Given the description of an element on the screen output the (x, y) to click on. 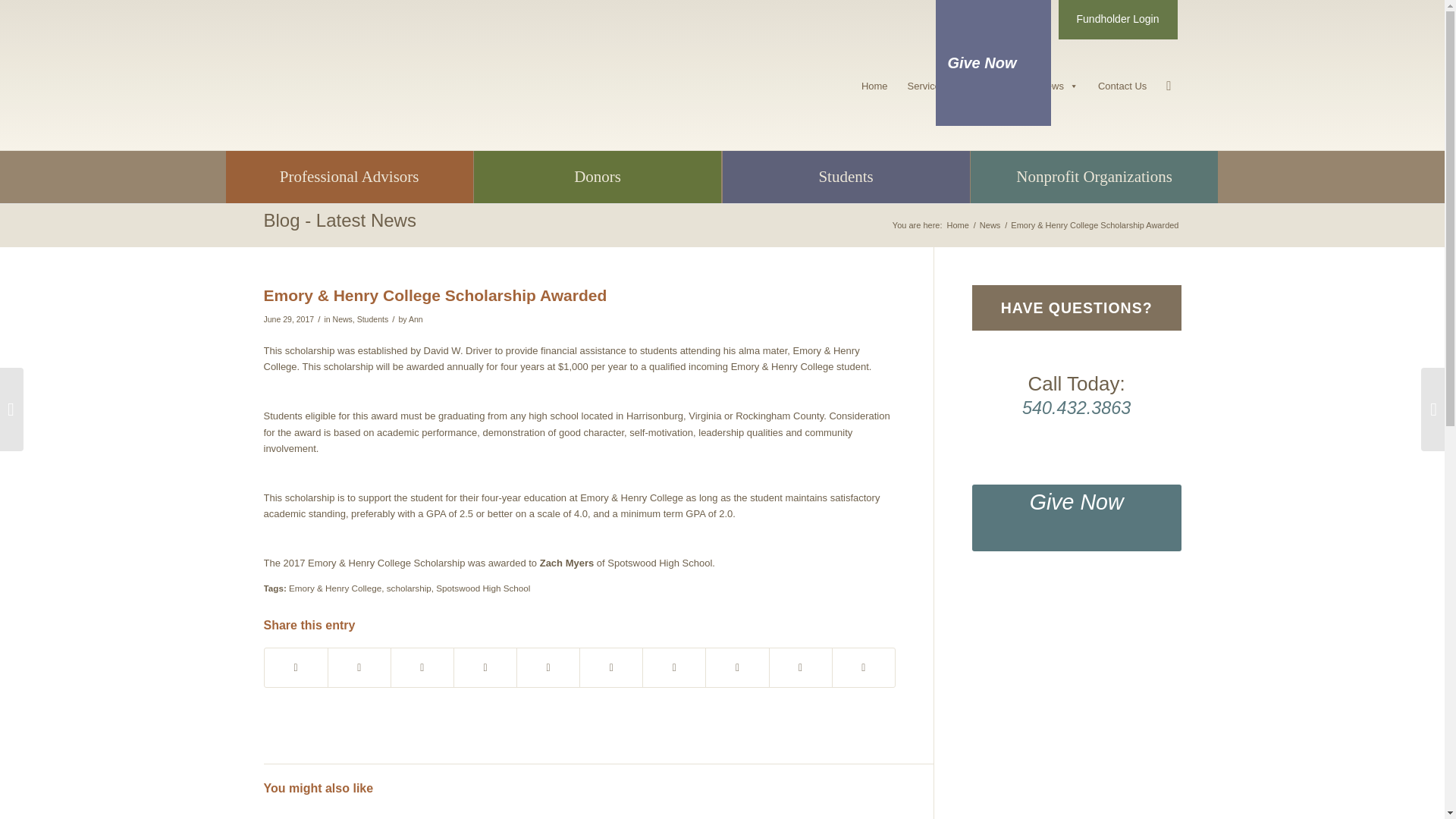
The Community Foundation (957, 225)
Permanent Link: Blog - Latest News (339, 219)
Give Now (992, 63)
Posts by Ann (416, 318)
Fundholder Login (1117, 19)
